Given the description of an element on the screen output the (x, y) to click on. 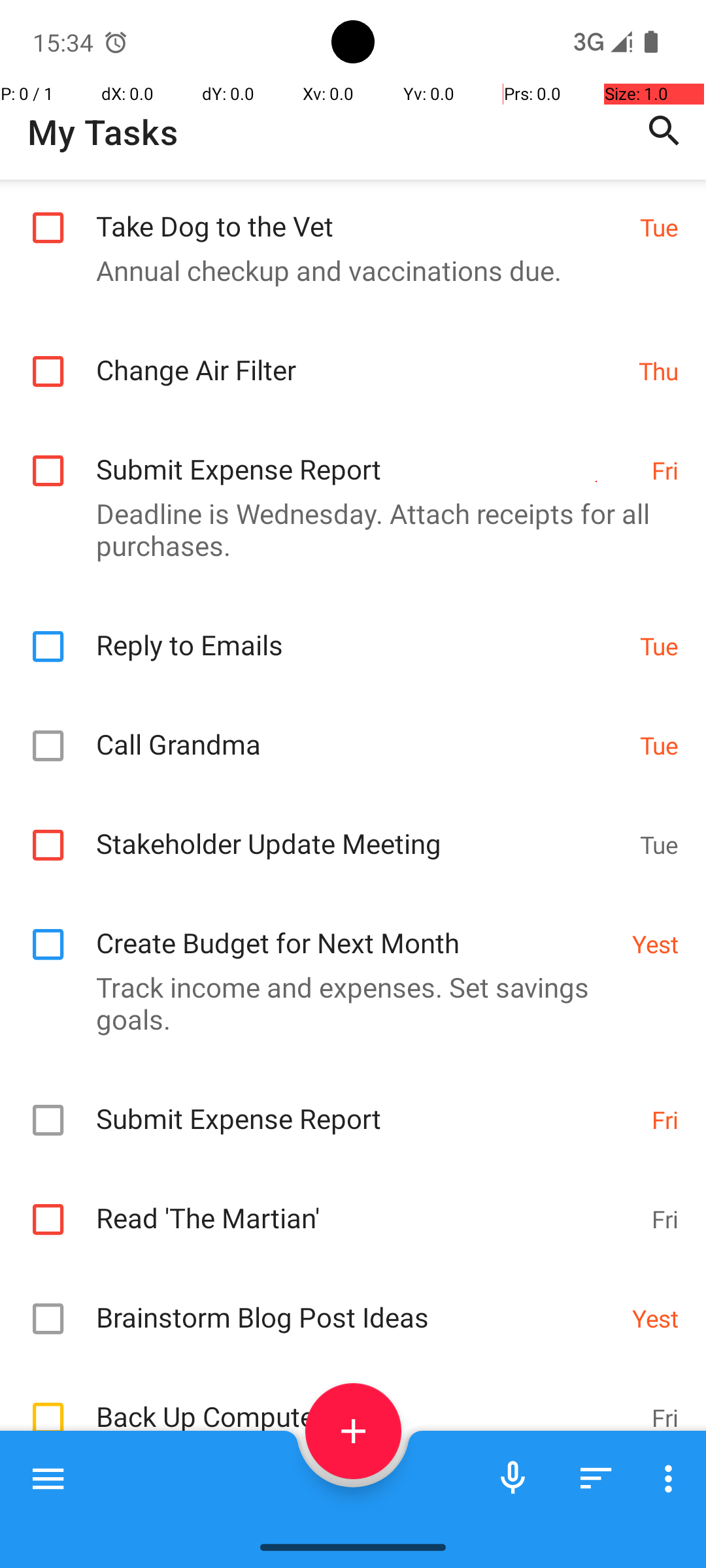
Stakeholder Update Meeting Element type: android.widget.TextView (361, 829)
